Given the description of an element on the screen output the (x, y) to click on. 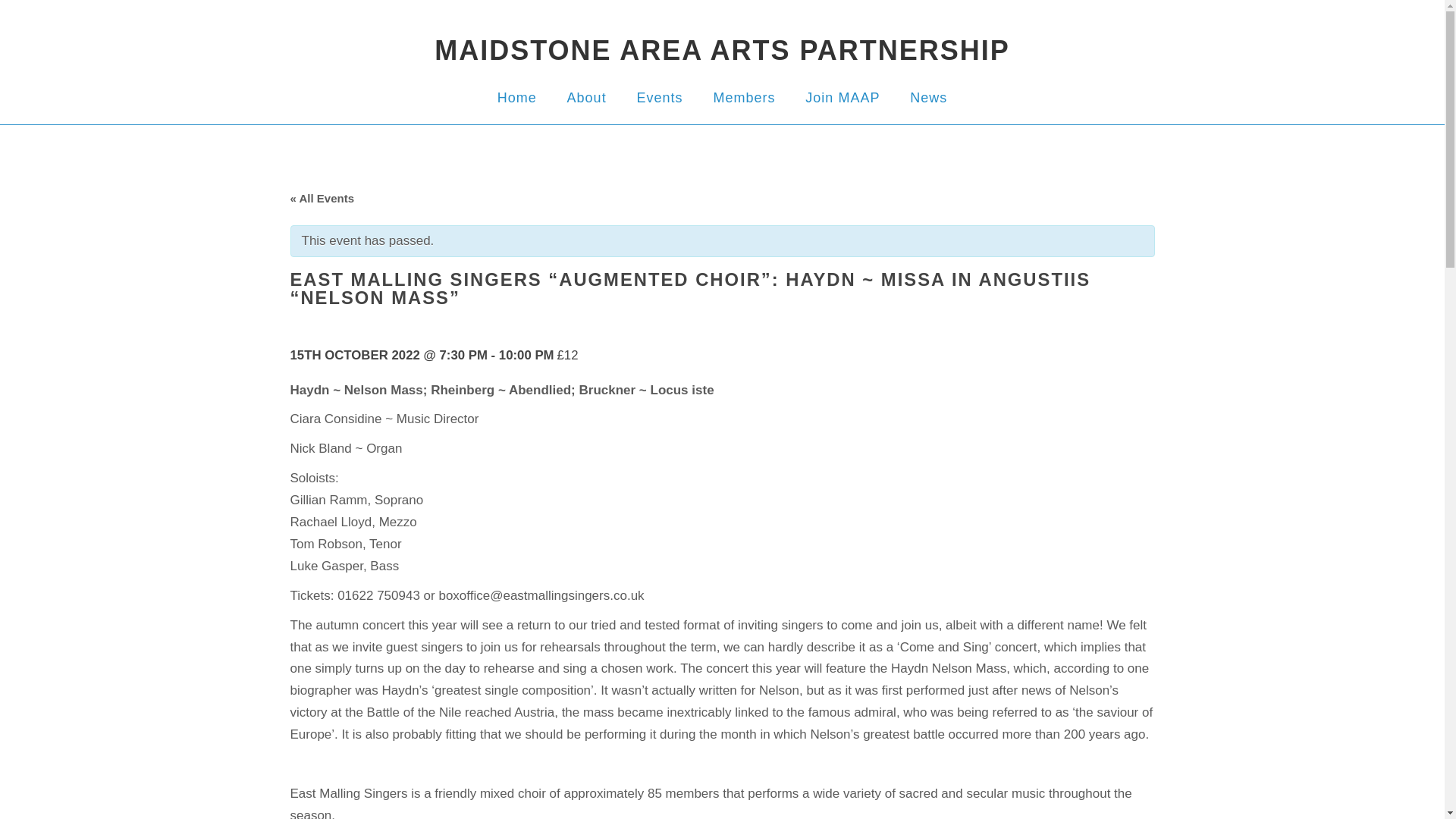
Events (659, 97)
Members (743, 97)
Join MAAP (842, 97)
Home (517, 97)
News (928, 97)
About (586, 97)
